Given the description of an element on the screen output the (x, y) to click on. 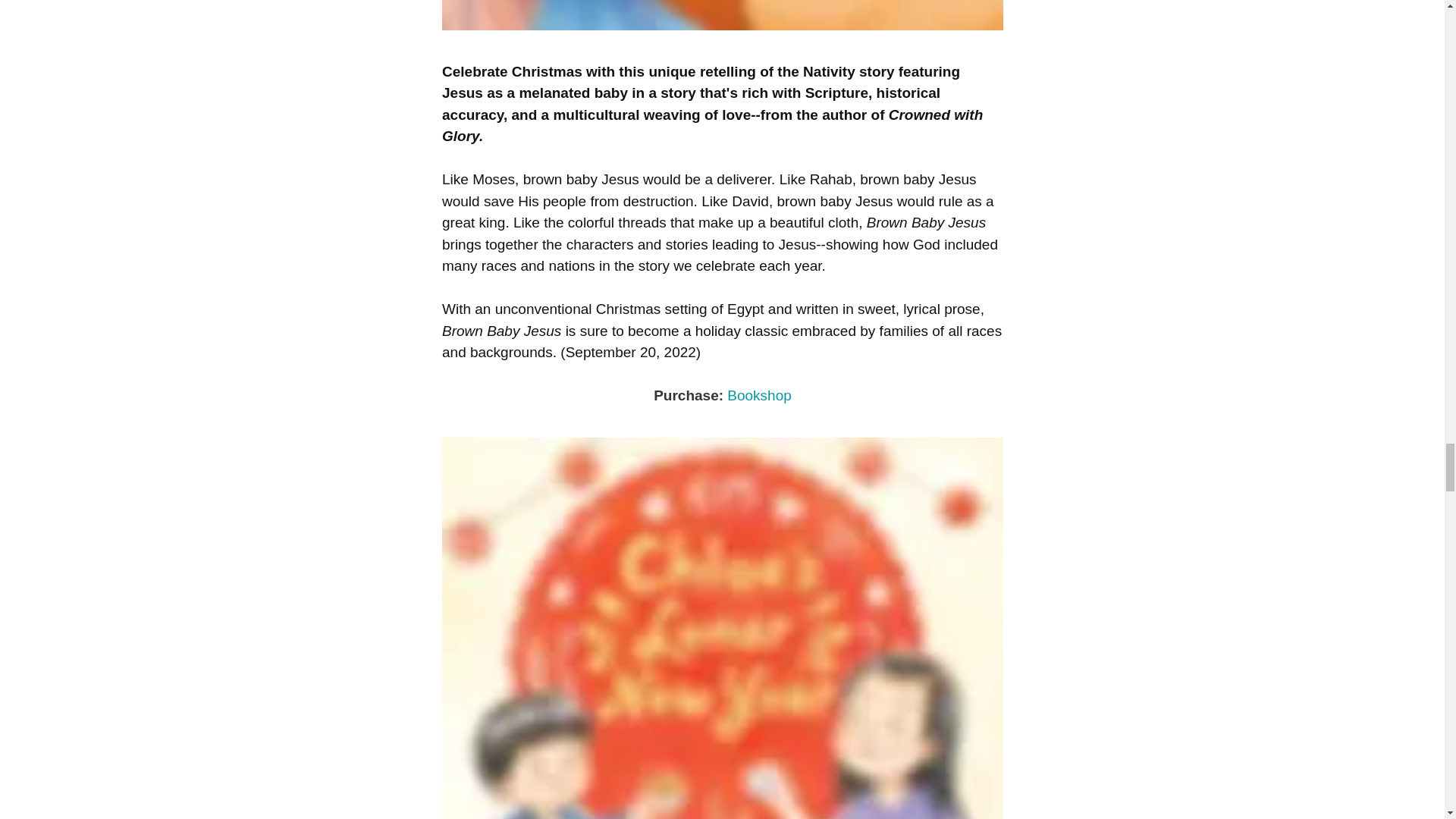
Bookshop (759, 395)
